Given the description of an element on the screen output the (x, y) to click on. 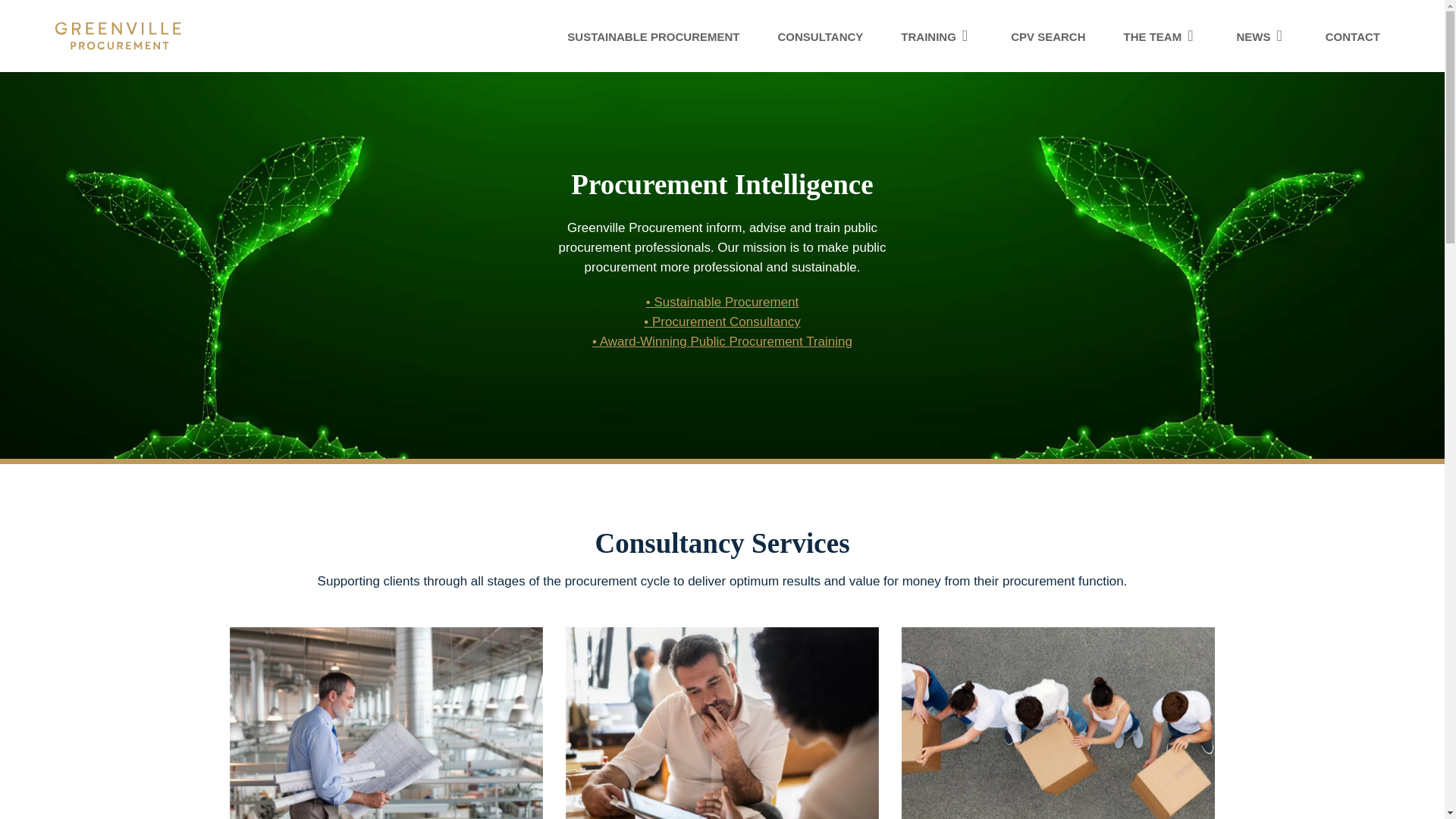
SUSTAINABLE PROCUREMENT (653, 36)
TRAINING (936, 36)
CONSULTANCY (820, 36)
NEWS (1261, 36)
THE TEAM (1160, 36)
CONTACT (1352, 36)
CPV SEARCH (1047, 36)
